Given the description of an element on the screen output the (x, y) to click on. 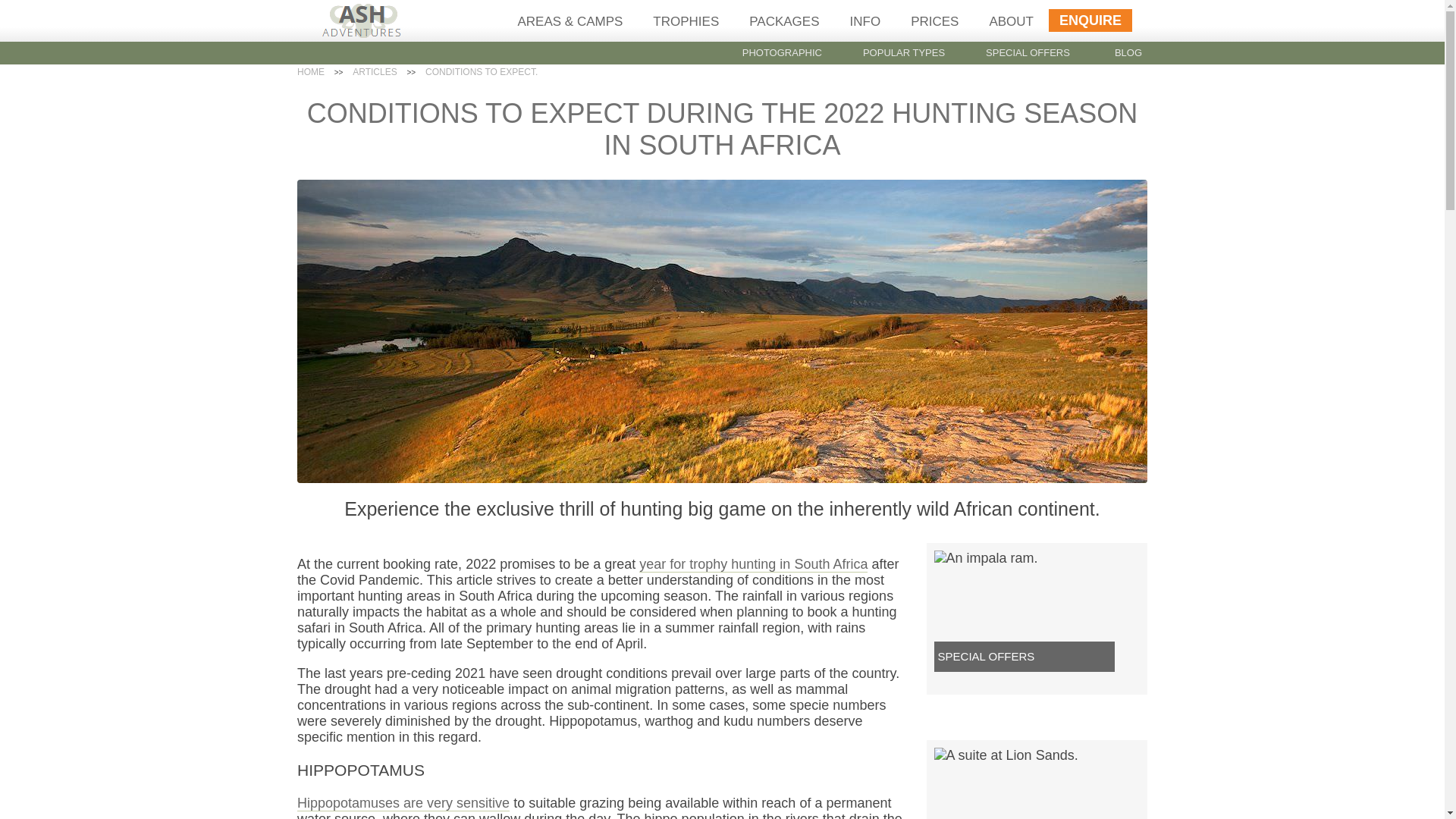
SPECIAL OFFERS (1027, 52)
CONDITIONS TO EXPECT. (481, 71)
INFO (865, 21)
PRICES (934, 21)
ASH Adventures (362, 33)
PACKAGES (783, 21)
year for trophy hunting in South Africa (753, 564)
Contact ASH Adventures (1090, 20)
BLOG (1128, 52)
PHOTOGRAPHIC (782, 52)
